Given the description of an element on the screen output the (x, y) to click on. 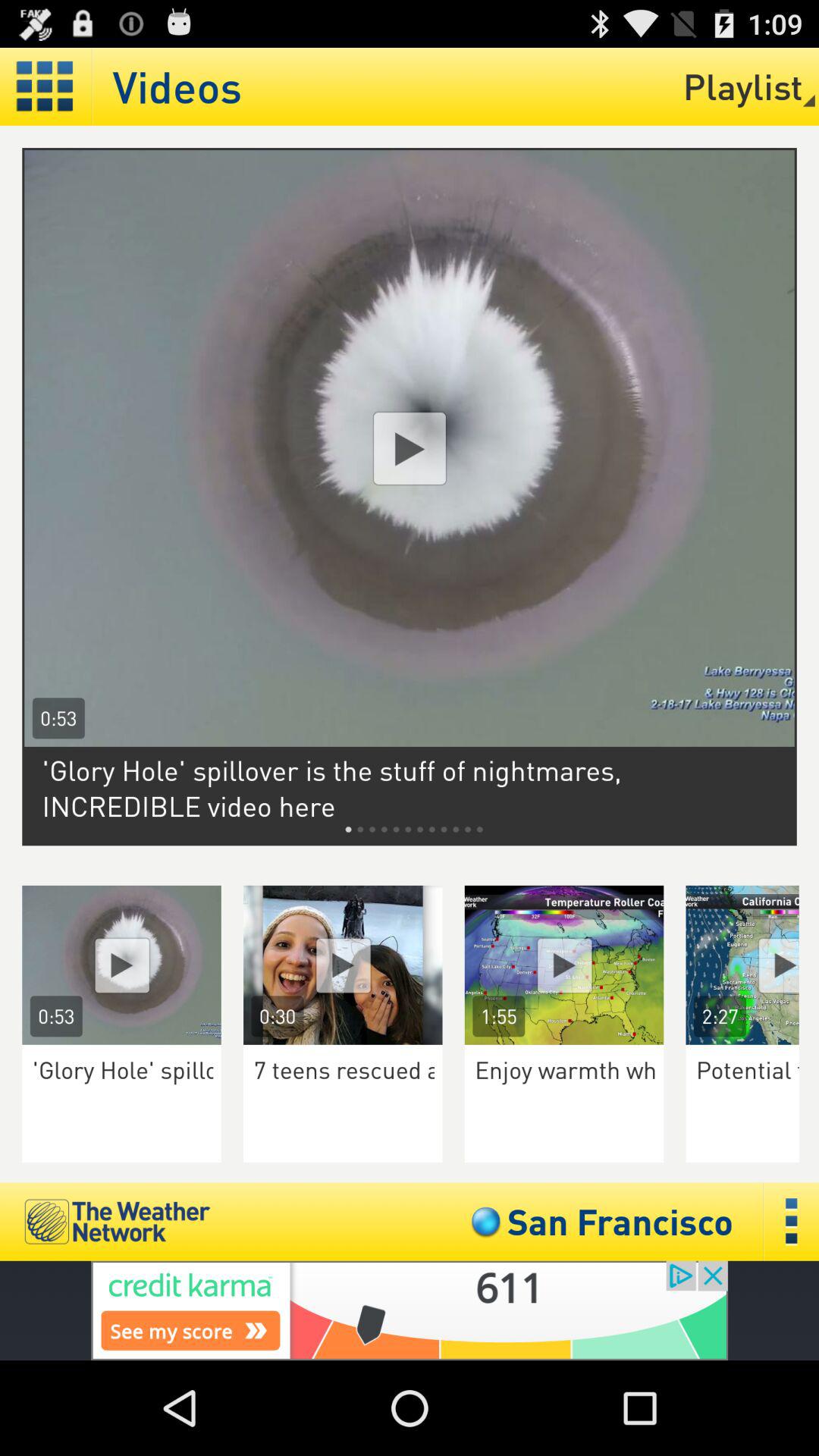
next the option (752, 964)
